Given the description of an element on the screen output the (x, y) to click on. 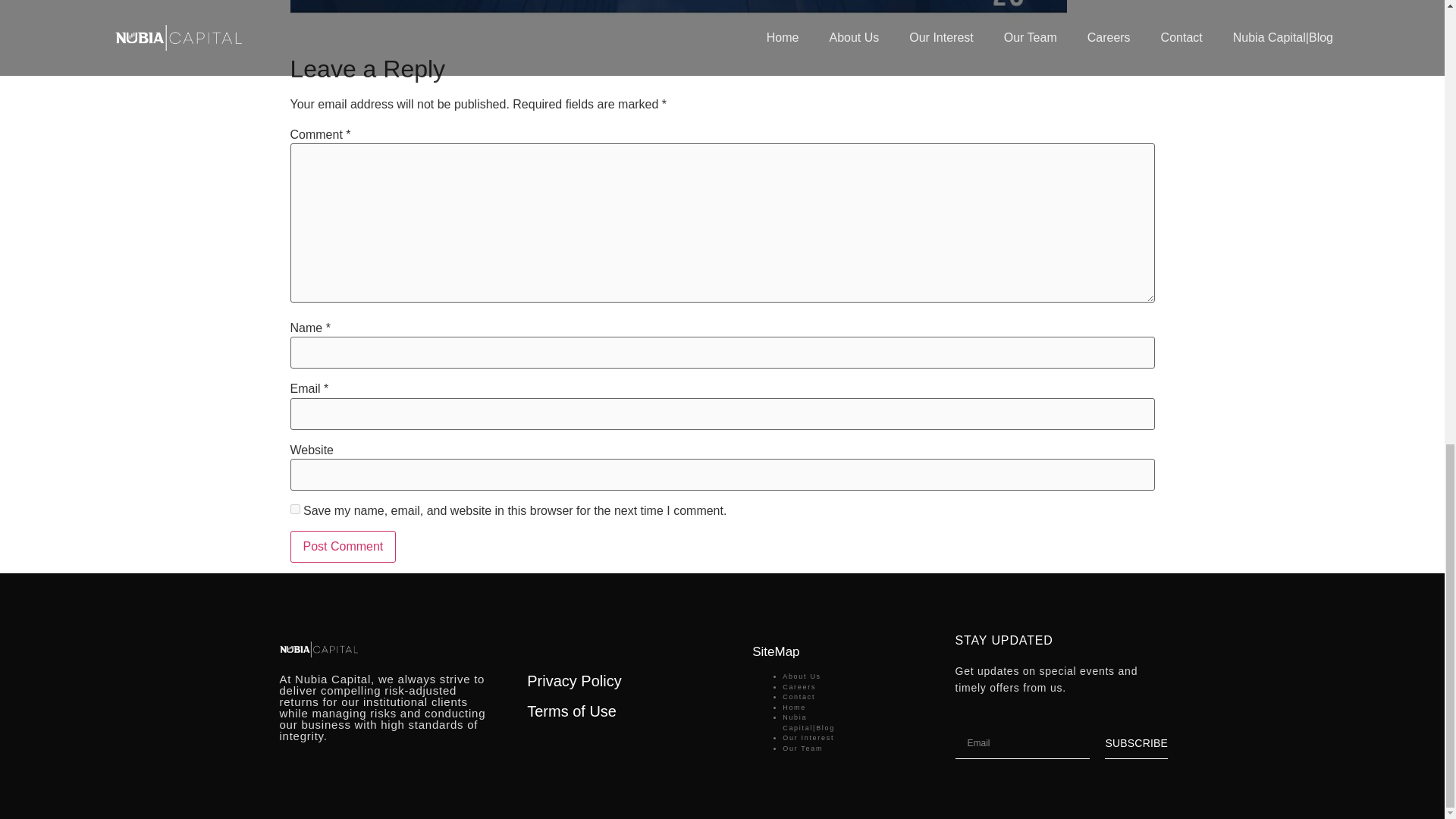
Privacy Policy (574, 680)
Post Comment (342, 546)
Terms of Use (571, 710)
yes (294, 509)
Post Comment (342, 546)
